Given the description of an element on the screen output the (x, y) to click on. 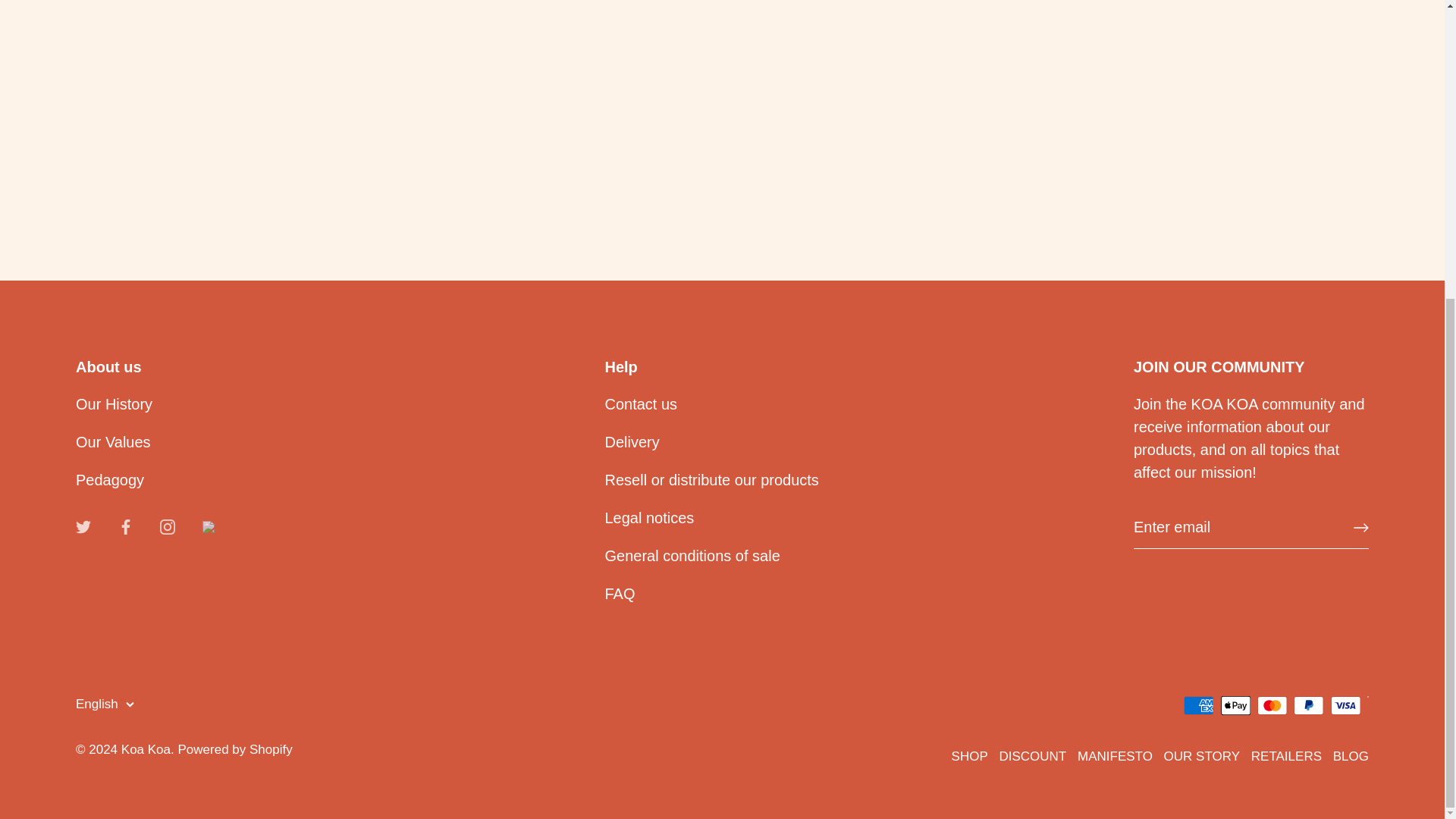
Pedagogy (109, 479)
Visa (1345, 705)
Legal notices (649, 517)
PayPal (1308, 705)
Twitter (82, 526)
American Express (1198, 705)
Delivery (632, 442)
General Conditions of Sale (692, 555)
FAQ (619, 593)
Instagram (167, 524)
Twitter (82, 524)
MANIFESTO (113, 442)
Apple Pay (1235, 705)
Instagram (167, 526)
